Given the description of an element on the screen output the (x, y) to click on. 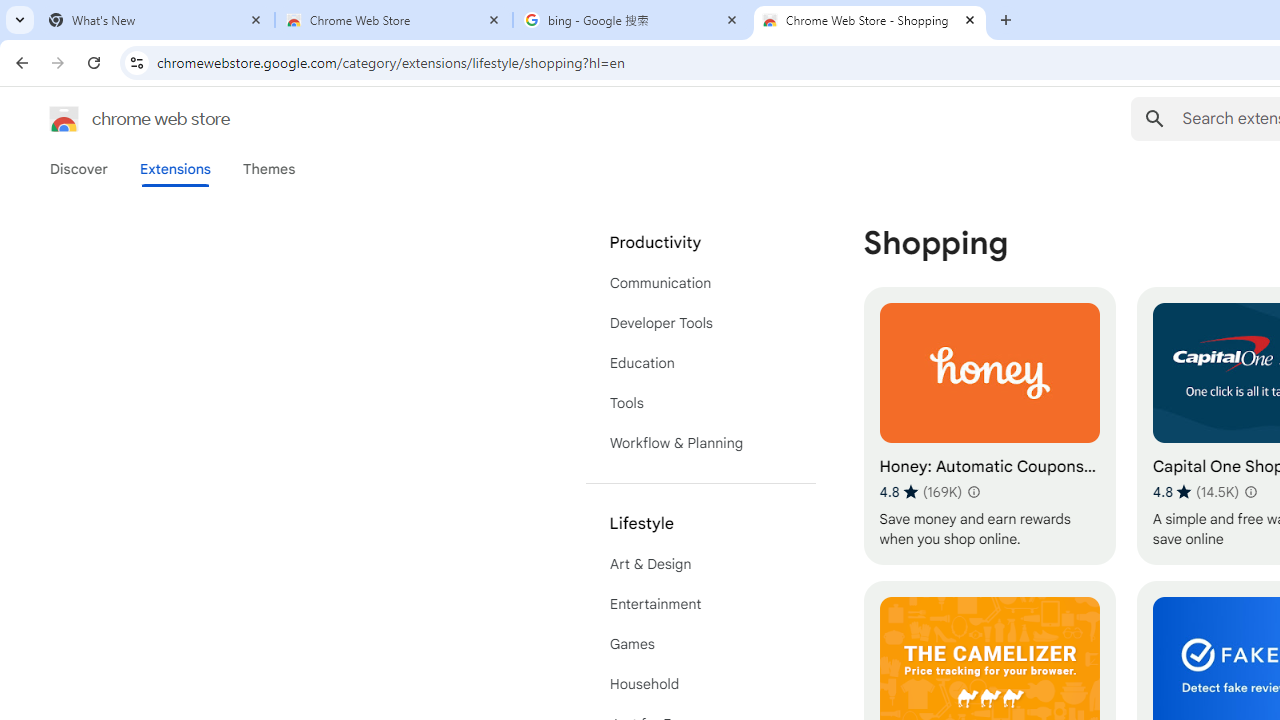
Chrome Web Store logo (63, 118)
Discover (79, 169)
What's New (156, 20)
Developer Tools (700, 322)
Tools (700, 403)
Art & Design (700, 563)
Average rating 4.8 out of 5 stars. 14.5K ratings. (1196, 491)
Entertainment (700, 603)
